Given the description of an element on the screen output the (x, y) to click on. 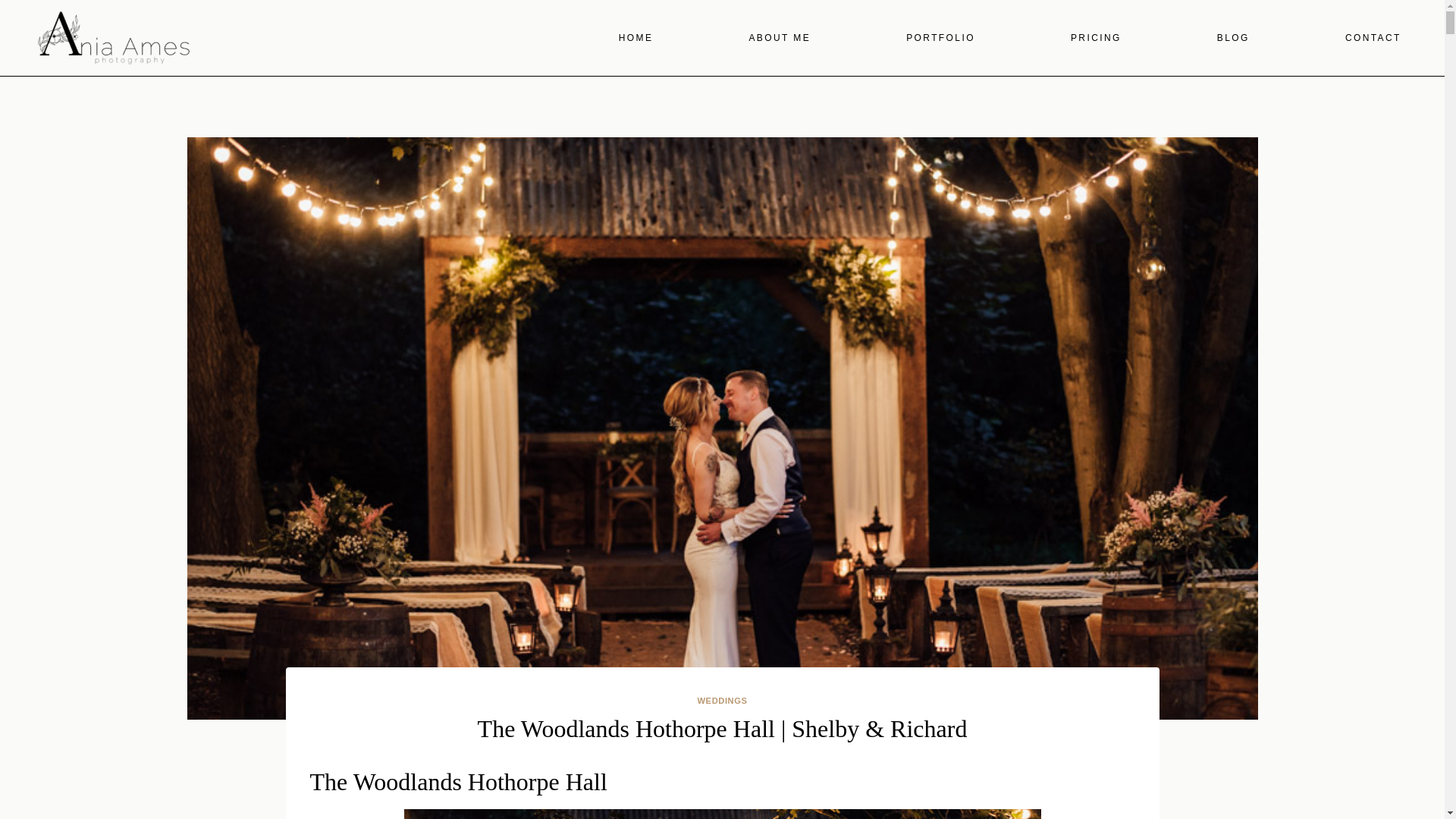
PORTFOLIO (940, 37)
PRICING (1095, 37)
HOME (635, 37)
WEDDINGS (721, 700)
ABOUT ME (778, 37)
CONTACT (1372, 37)
BLOG (1233, 37)
